Given the description of an element on the screen output the (x, y) to click on. 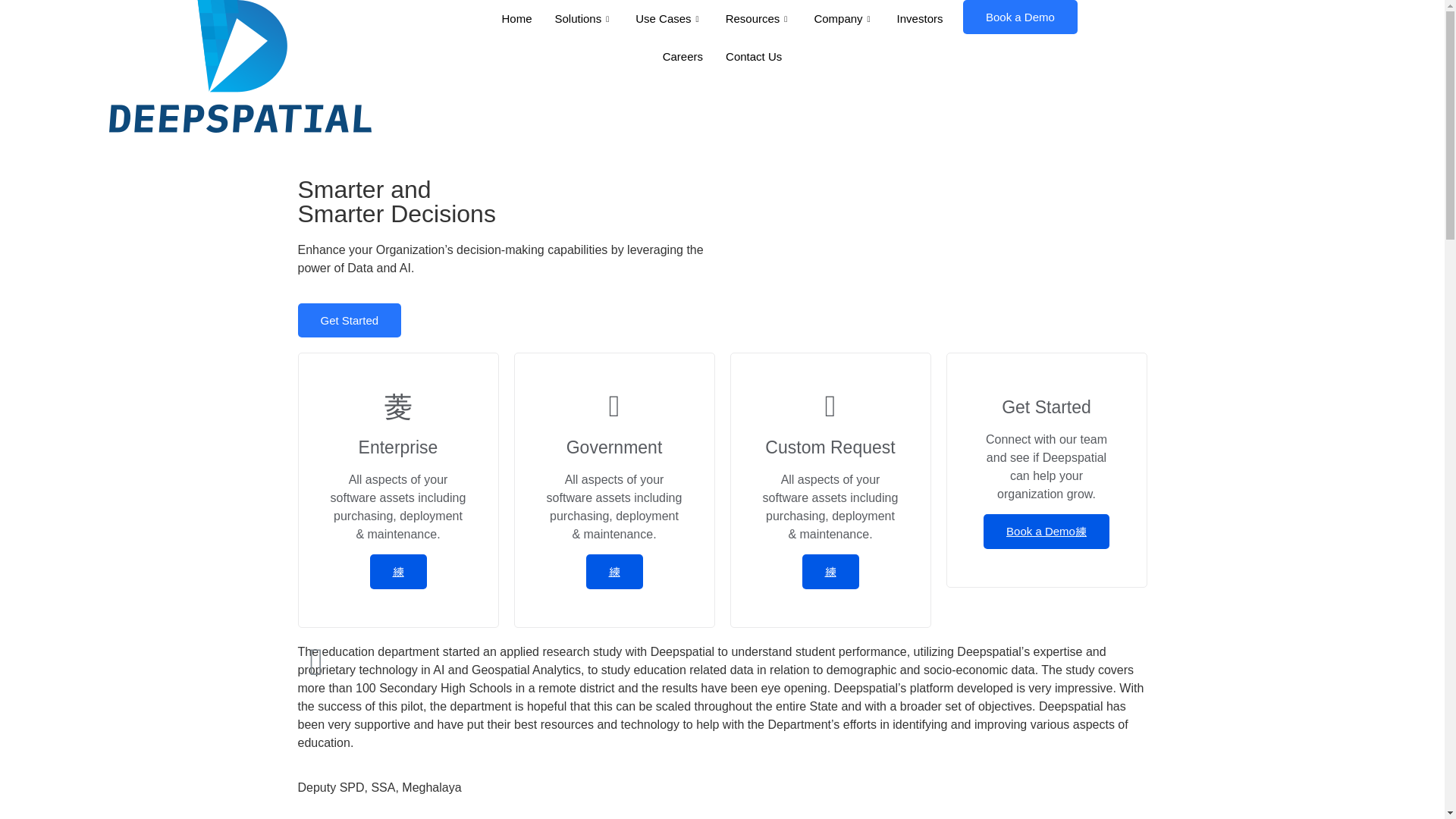
Investors (920, 18)
Home (516, 18)
Use Cases (668, 18)
Get Started (349, 320)
Solutions (583, 18)
Careers (682, 56)
Contact Us (753, 56)
Book a Demo (1019, 17)
Resources (758, 18)
Company (843, 18)
